Given the description of an element on the screen output the (x, y) to click on. 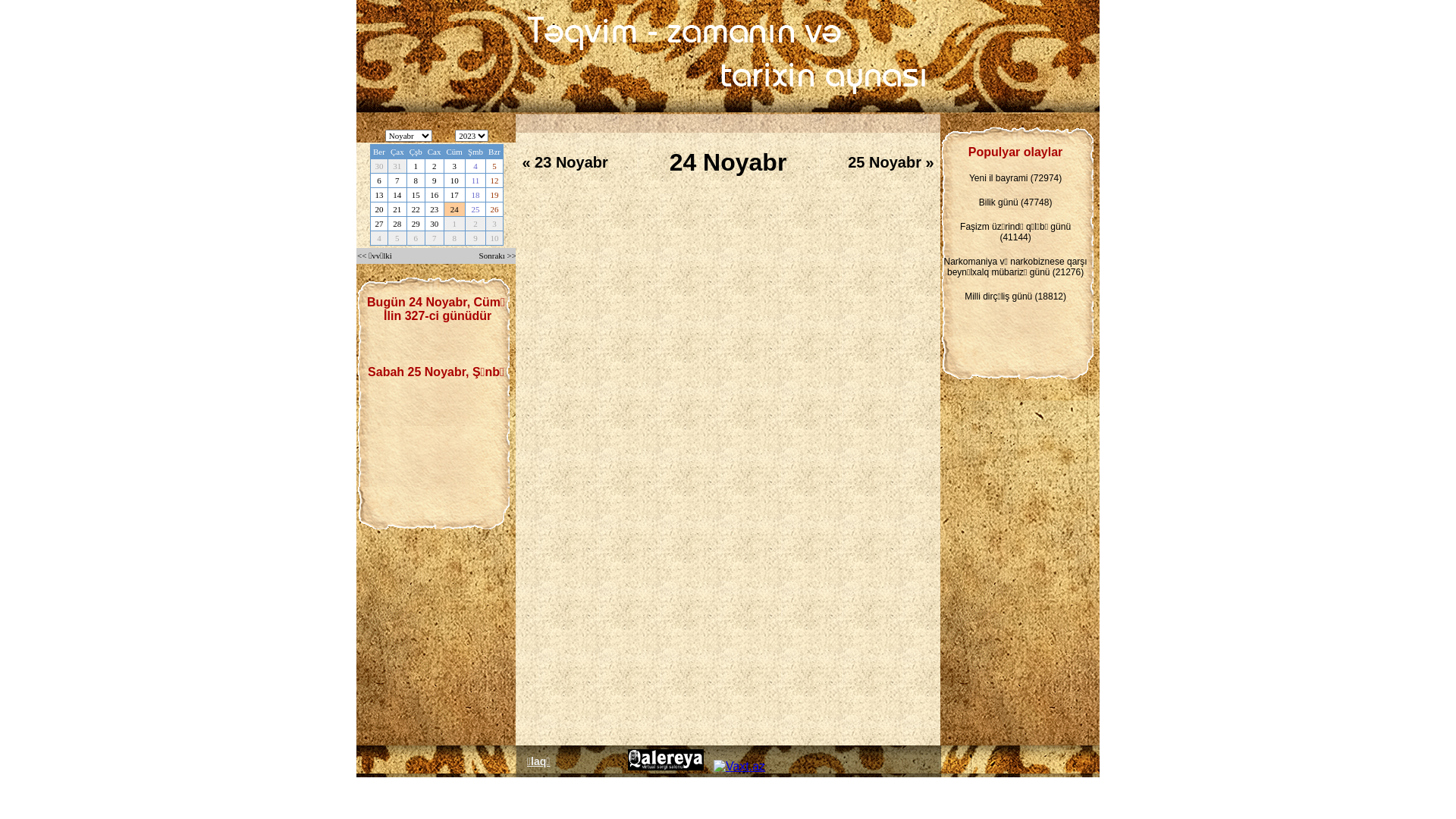
Yeni il bayrami (72974) Element type: text (1015, 177)
Populyar olaylar Element type: text (1015, 151)
Vaxt.az Element type: hover (739, 766)
